Given the description of an element on the screen output the (x, y) to click on. 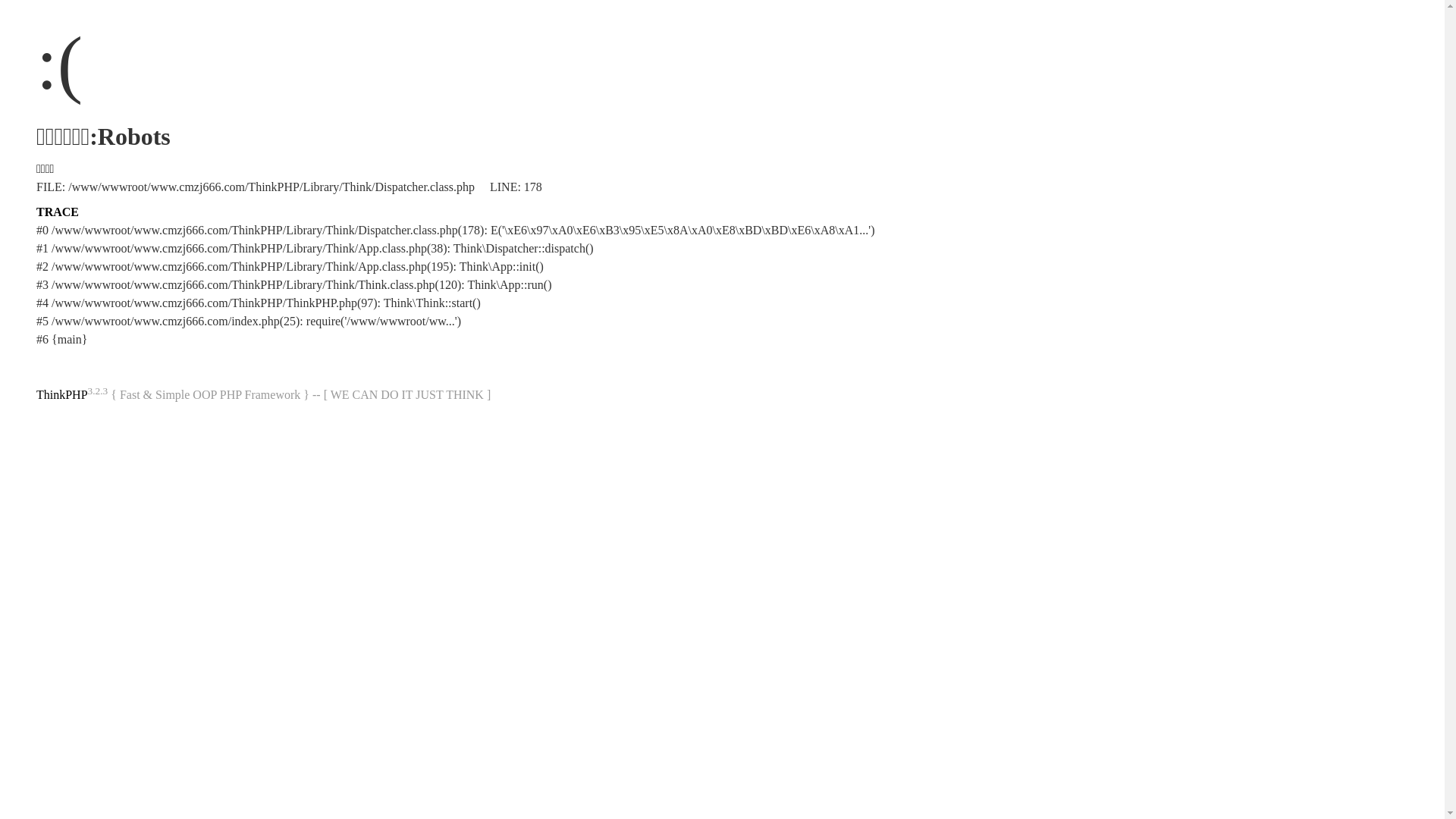
ThinkPHP Element type: text (61, 394)
